Given the description of an element on the screen output the (x, y) to click on. 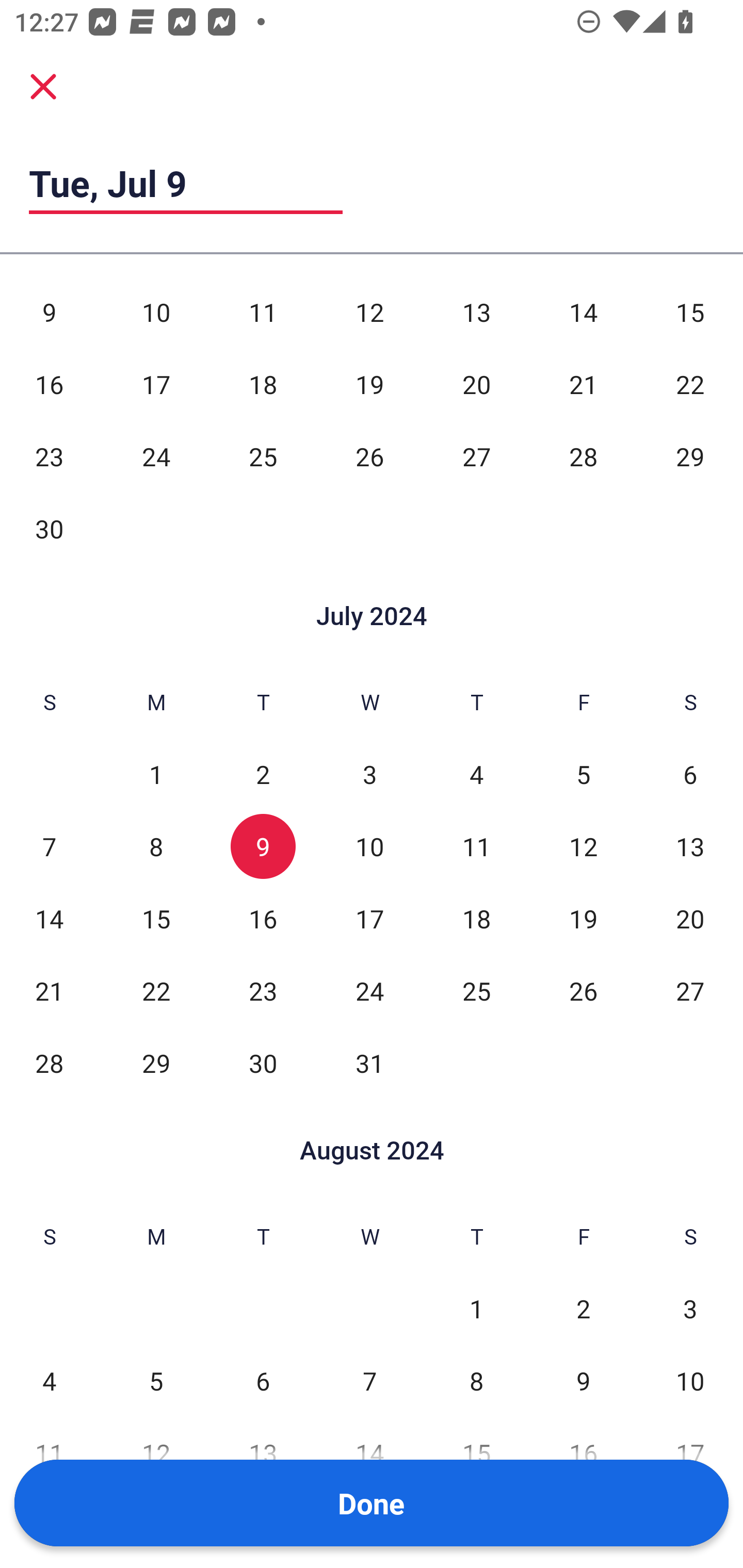
Cancel (43, 86)
Tue, Jul 9 (185, 182)
9 Sun, Jun 9, Not Selected (49, 311)
10 Mon, Jun 10, Not Selected (156, 311)
11 Tue, Jun 11, Not Selected (263, 311)
12 Wed, Jun 12, Not Selected (369, 311)
13 Thu, Jun 13, Not Selected (476, 311)
14 Fri, Jun 14, Not Selected (583, 311)
15 Sat, Jun 15, Not Selected (690, 311)
16 Sun, Jun 16, Not Selected (49, 384)
17 Mon, Jun 17, Not Selected (156, 384)
18 Tue, Jun 18, Not Selected (263, 384)
19 Wed, Jun 19, Not Selected (369, 384)
20 Thu, Jun 20, Not Selected (476, 384)
21 Fri, Jun 21, Not Selected (583, 384)
22 Sat, Jun 22, Not Selected (690, 384)
23 Sun, Jun 23, Not Selected (49, 456)
24 Mon, Jun 24, Not Selected (156, 456)
25 Tue, Jun 25, Not Selected (263, 456)
26 Wed, Jun 26, Not Selected (369, 456)
27 Thu, Jun 27, Not Selected (476, 456)
28 Fri, Jun 28, Not Selected (583, 456)
29 Sat, Jun 29, Not Selected (690, 456)
30 Sun, Jun 30, Not Selected (49, 528)
1 Mon, Jul 1, Not Selected (156, 774)
2 Tue, Jul 2, Not Selected (263, 774)
3 Wed, Jul 3, Not Selected (369, 774)
4 Thu, Jul 4, Not Selected (476, 774)
5 Fri, Jul 5, Not Selected (583, 774)
6 Sat, Jul 6, Not Selected (690, 774)
7 Sun, Jul 7, Not Selected (49, 846)
8 Mon, Jul 8, Not Selected (156, 846)
9 Tue, Jul 9, Selected (263, 846)
10 Wed, Jul 10, Not Selected (369, 846)
11 Thu, Jul 11, Not Selected (476, 846)
12 Fri, Jul 12, Not Selected (583, 846)
13 Sat, Jul 13, Not Selected (690, 846)
14 Sun, Jul 14, Not Selected (49, 918)
15 Mon, Jul 15, Not Selected (156, 918)
16 Tue, Jul 16, Not Selected (263, 918)
17 Wed, Jul 17, Not Selected (369, 918)
18 Thu, Jul 18, Not Selected (476, 918)
19 Fri, Jul 19, Not Selected (583, 918)
20 Sat, Jul 20, Not Selected (690, 918)
21 Sun, Jul 21, Not Selected (49, 990)
22 Mon, Jul 22, Not Selected (156, 990)
23 Tue, Jul 23, Not Selected (263, 990)
24 Wed, Jul 24, Not Selected (369, 990)
25 Thu, Jul 25, Not Selected (476, 990)
26 Fri, Jul 26, Not Selected (583, 990)
